Given the description of an element on the screen output the (x, y) to click on. 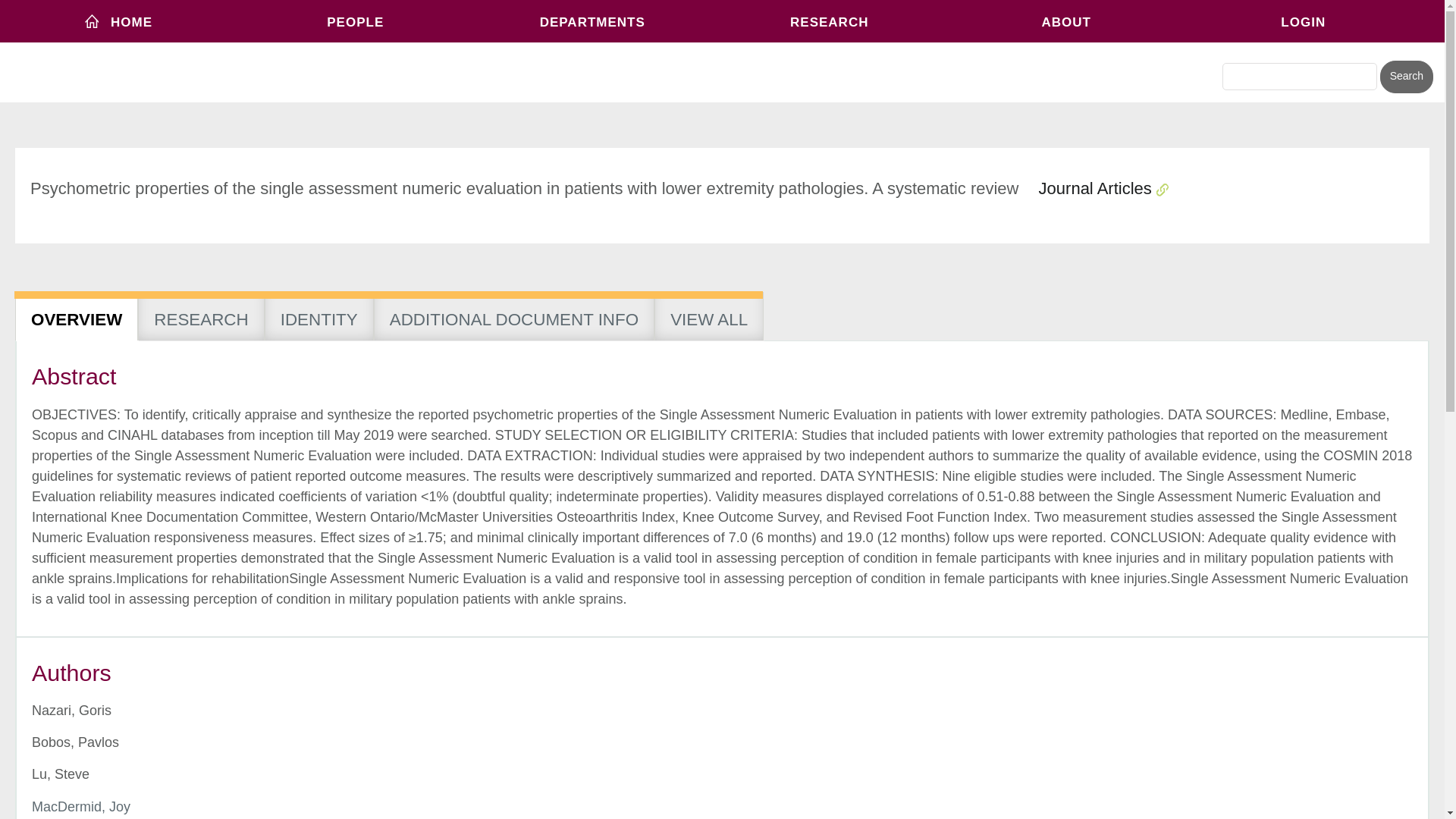
About menu item (1066, 21)
Search (1406, 76)
ABOUT (1066, 21)
PEOPLE (355, 21)
Research menu item (829, 21)
DEPARTMENTS (592, 21)
LOGIN (1303, 21)
Home menu item (118, 21)
author name (81, 806)
RESEARCH (829, 21)
